Given the description of an element on the screen output the (x, y) to click on. 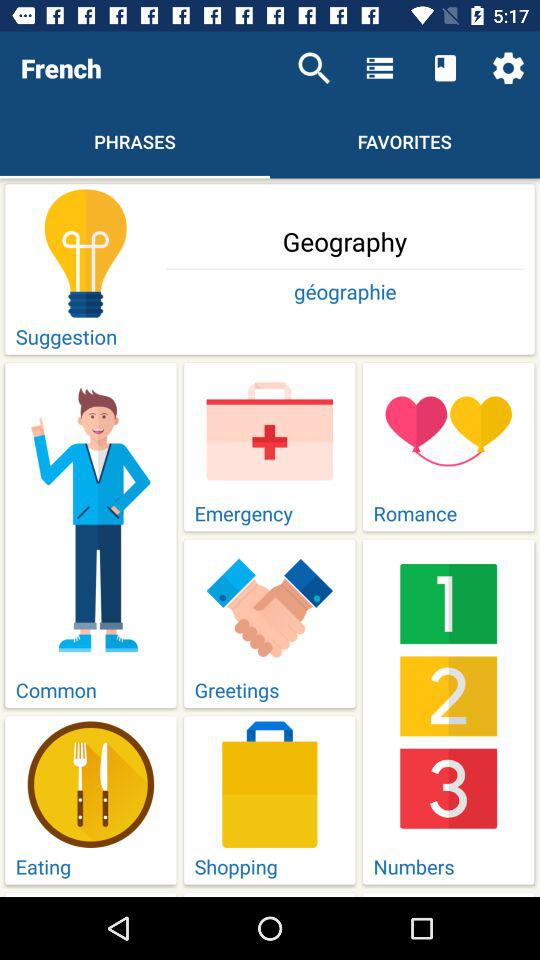
turn on item above geography icon (313, 67)
